Given the description of an element on the screen output the (x, y) to click on. 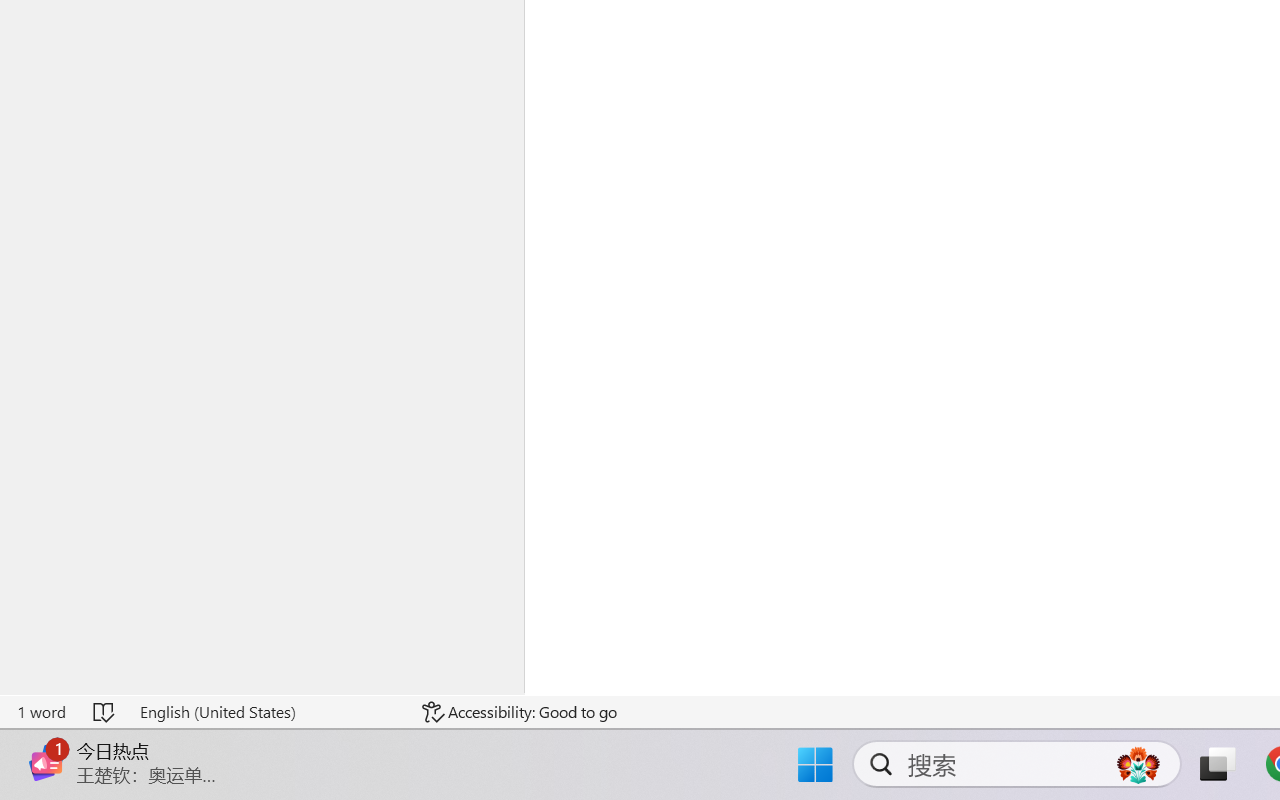
Class: Image (46, 762)
Accessibility Checker Accessibility: Good to go (519, 712)
AutomationID: DynamicSearchBoxGleamImage (1138, 764)
Spelling and Grammar Check No Errors (105, 712)
Language English (United States) (267, 712)
Word Count 1 word (41, 712)
